Given the description of an element on the screen output the (x, y) to click on. 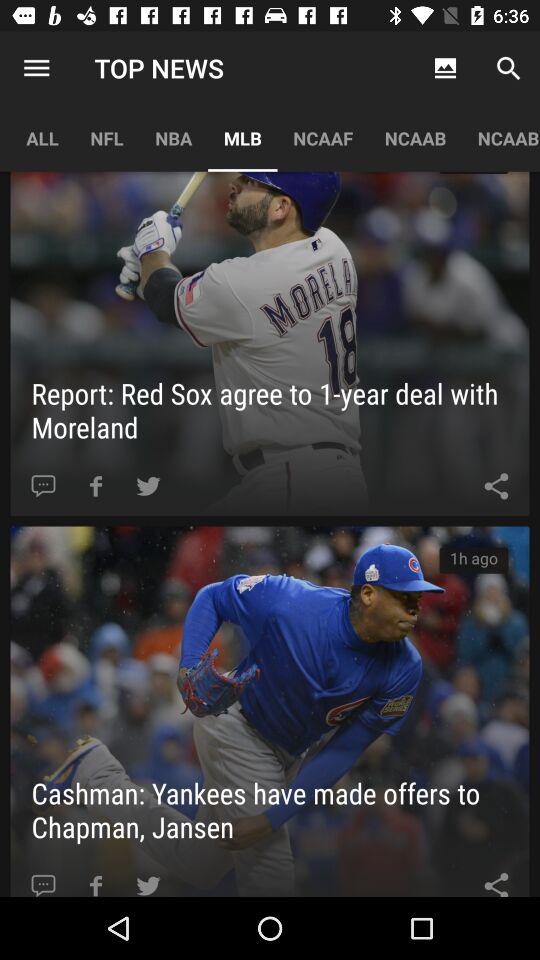
turn off app below the top news item (242, 138)
